Given the description of an element on the screen output the (x, y) to click on. 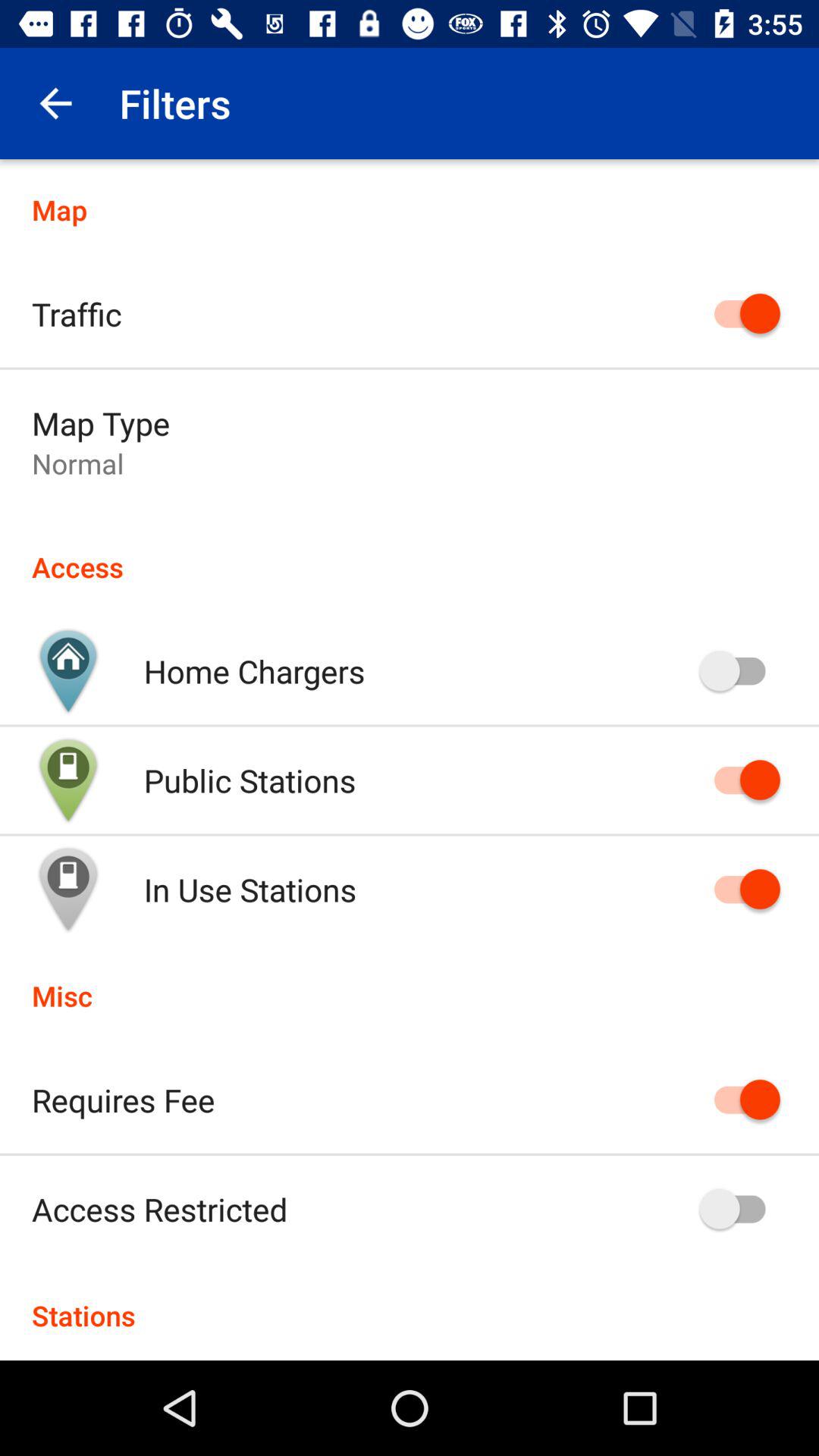
click item to the left of filters icon (55, 103)
